Given the description of an element on the screen output the (x, y) to click on. 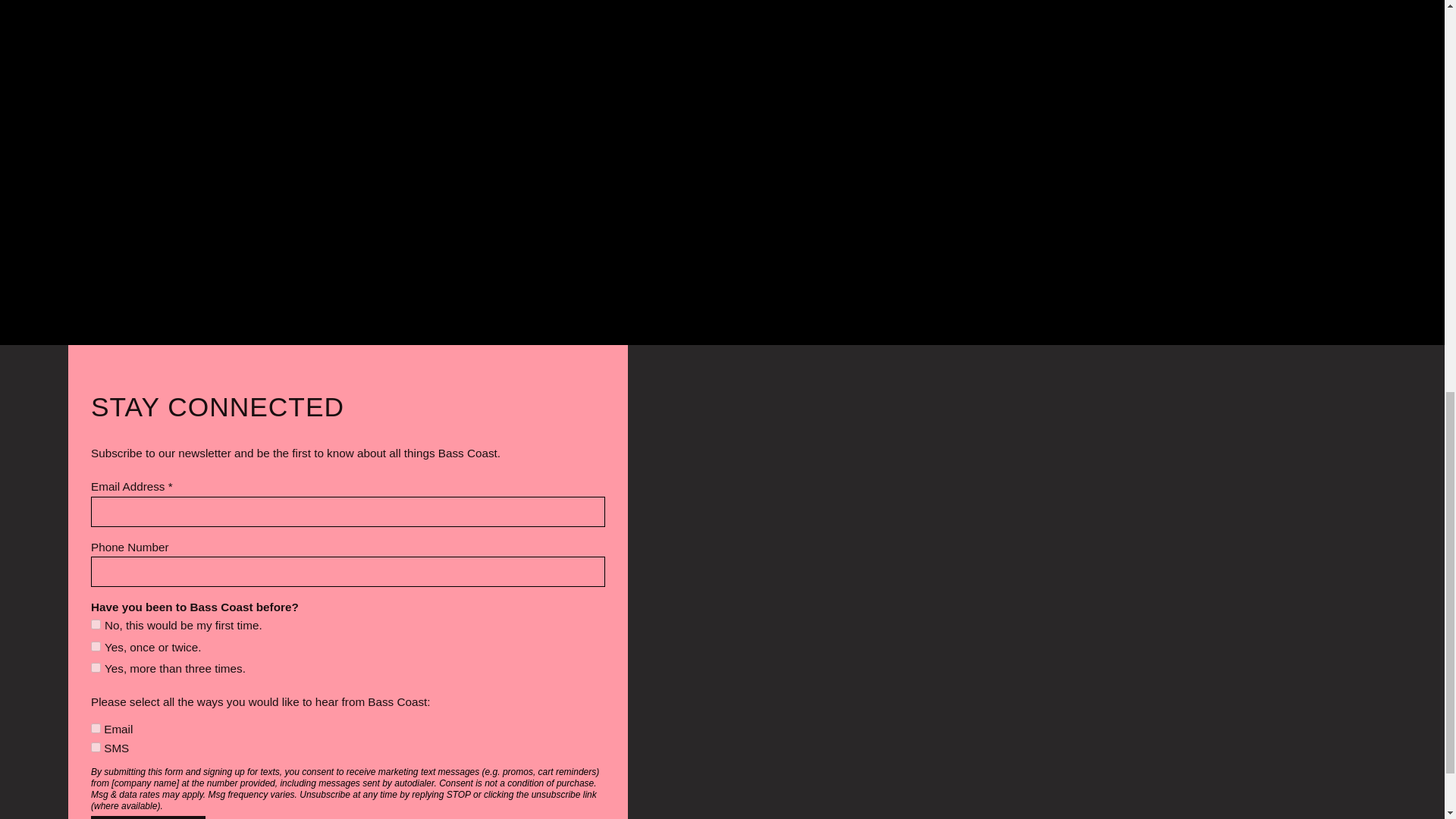
Y (95, 728)
Subscribe (147, 817)
Y (95, 747)
